Given the description of an element on the screen output the (x, y) to click on. 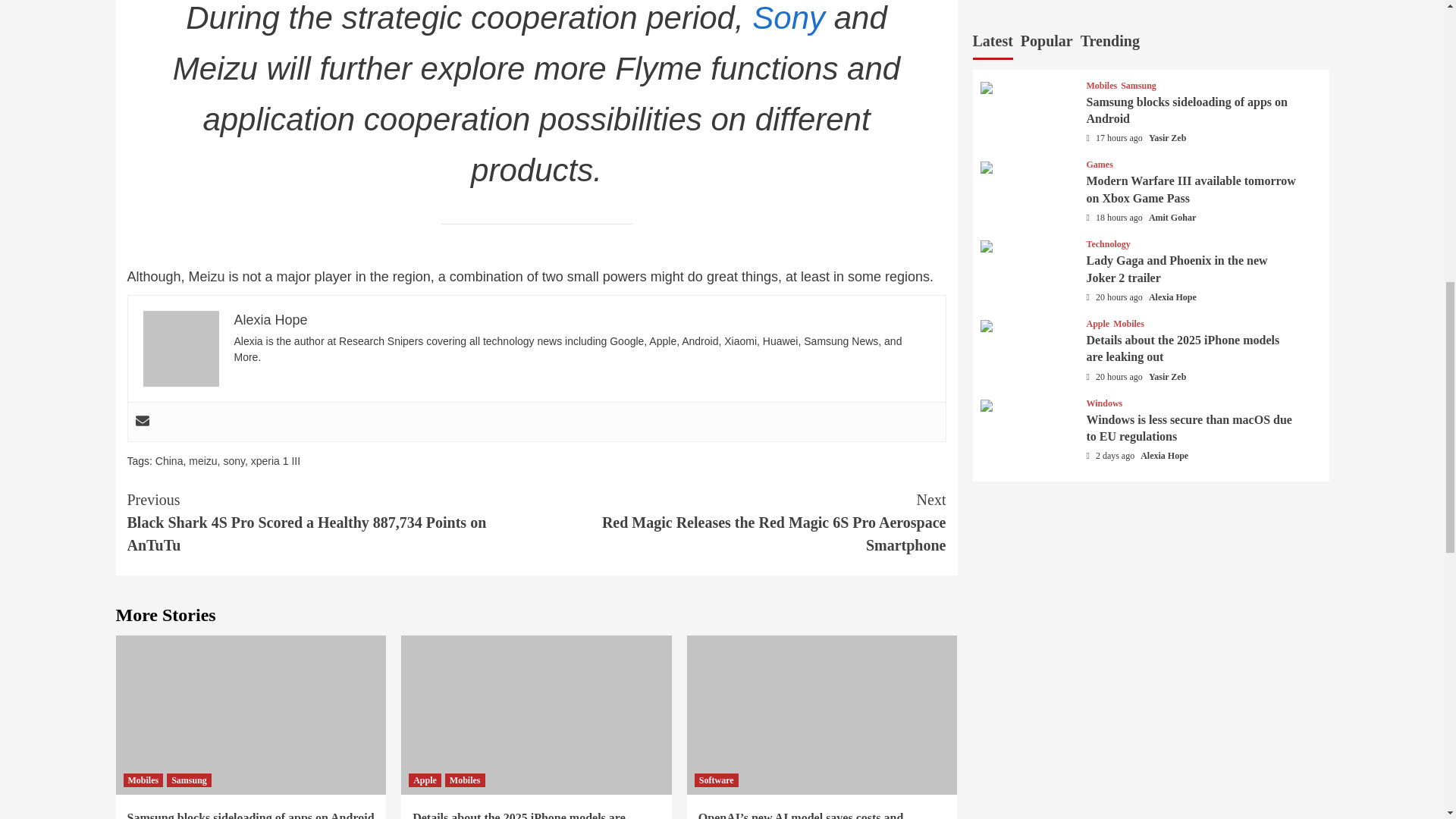
Sony (788, 18)
Alexia Hope (269, 319)
China (169, 460)
User email (141, 421)
